Given the description of an element on the screen output the (x, y) to click on. 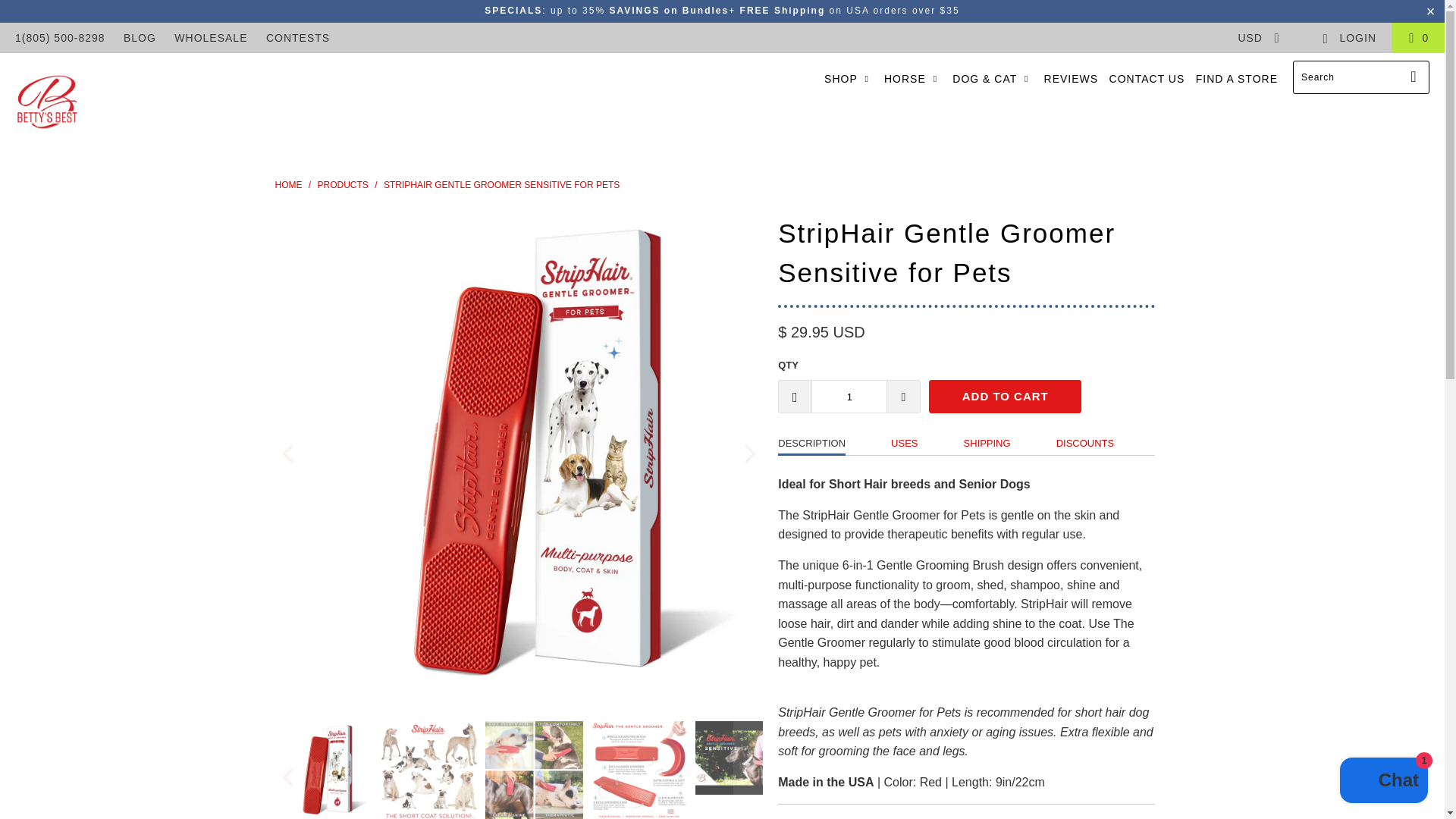
StripHair (288, 184)
1 (848, 396)
Products (342, 184)
StripHair (47, 102)
My Account  (1348, 37)
